Given the description of an element on the screen output the (x, y) to click on. 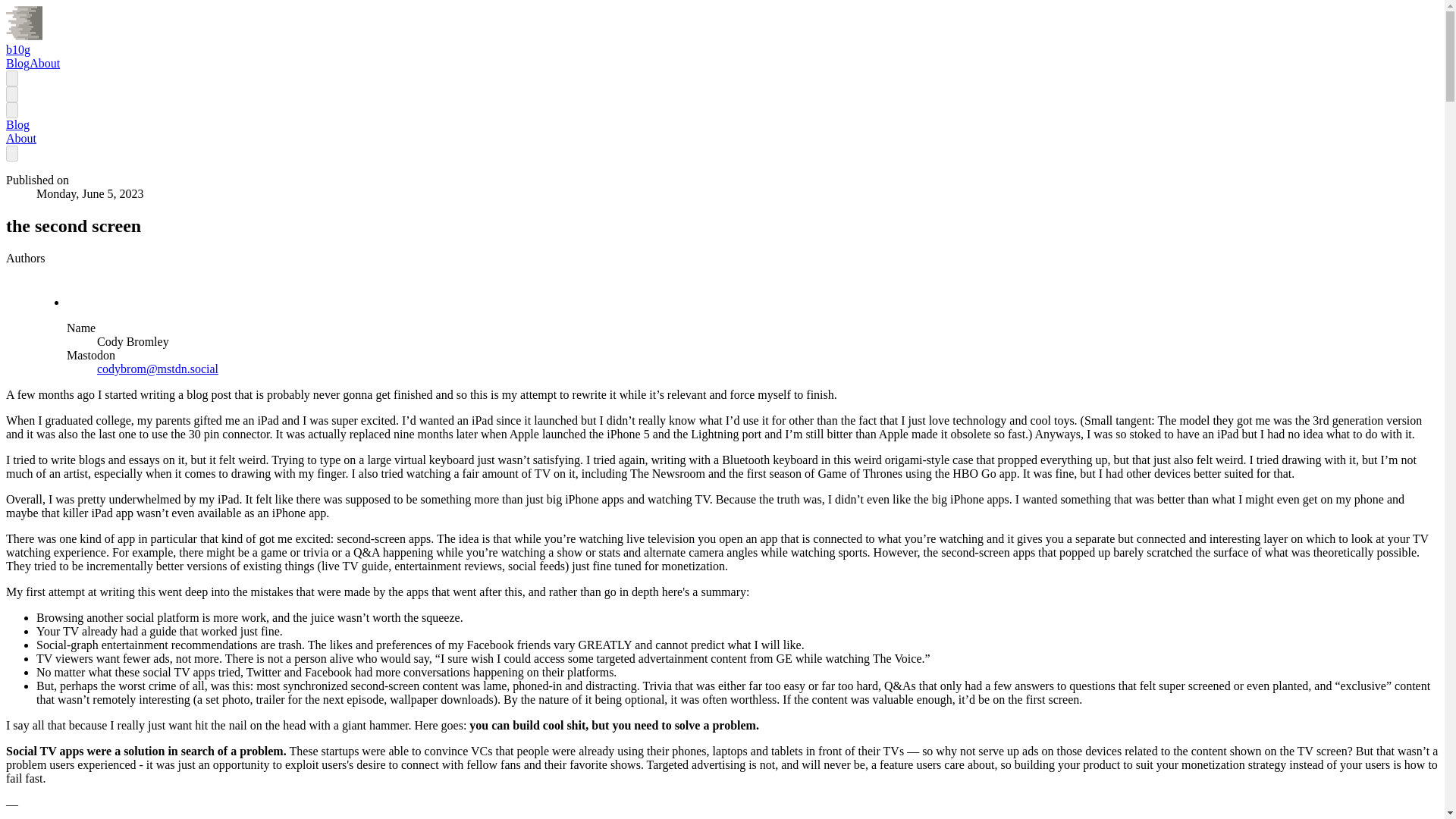
About (20, 137)
Blog (17, 62)
About (44, 62)
Blog (17, 124)
